Given the description of an element on the screen output the (x, y) to click on. 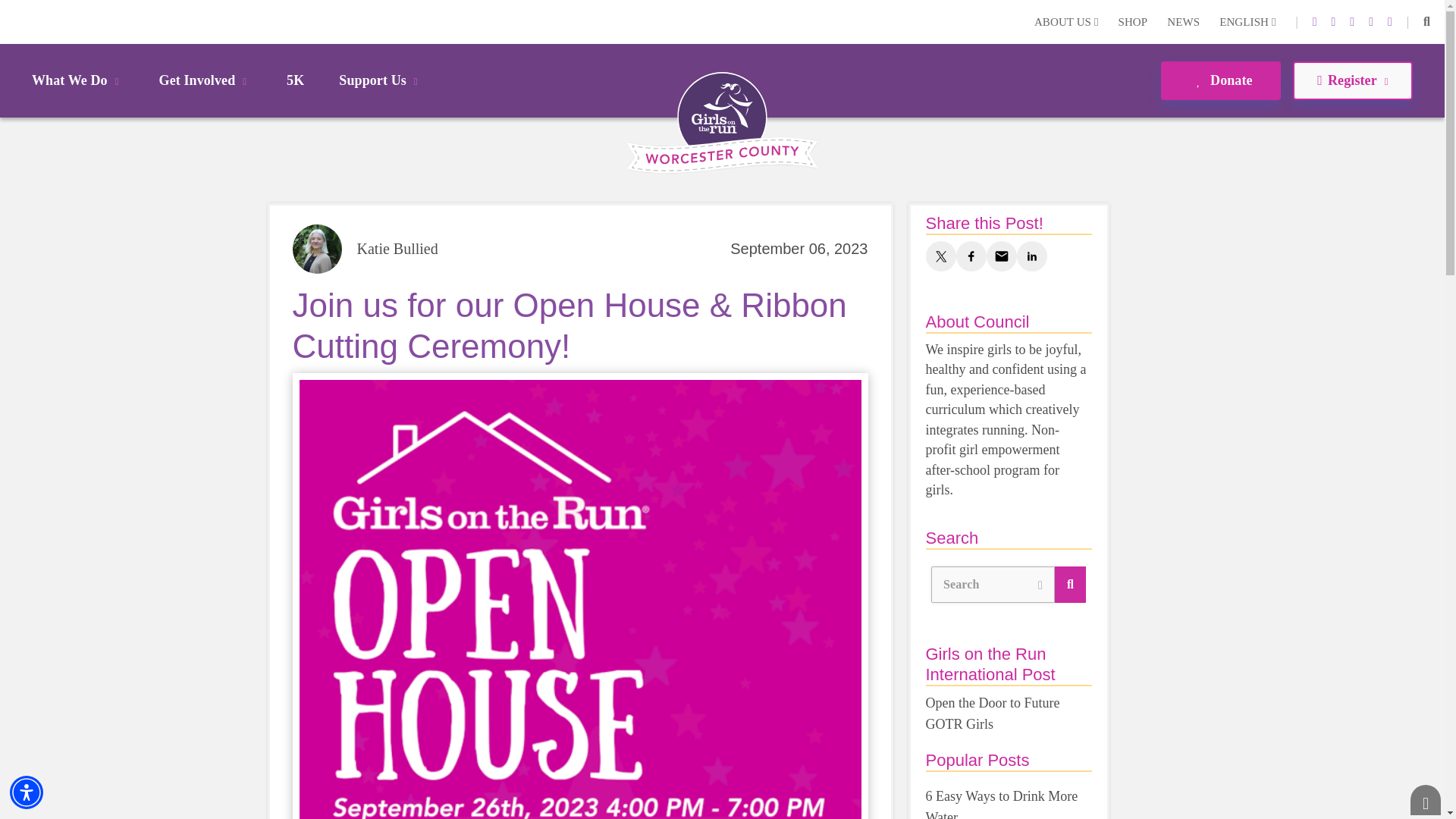
login (14, 22)
News (1183, 22)
ENGLISH (1247, 22)
Accessibility Menu (26, 792)
Support Us (380, 80)
Shop (1132, 22)
Register (1352, 80)
Login (14, 22)
What We Do (77, 80)
About Us (1066, 22)
